Given the description of an element on the screen output the (x, y) to click on. 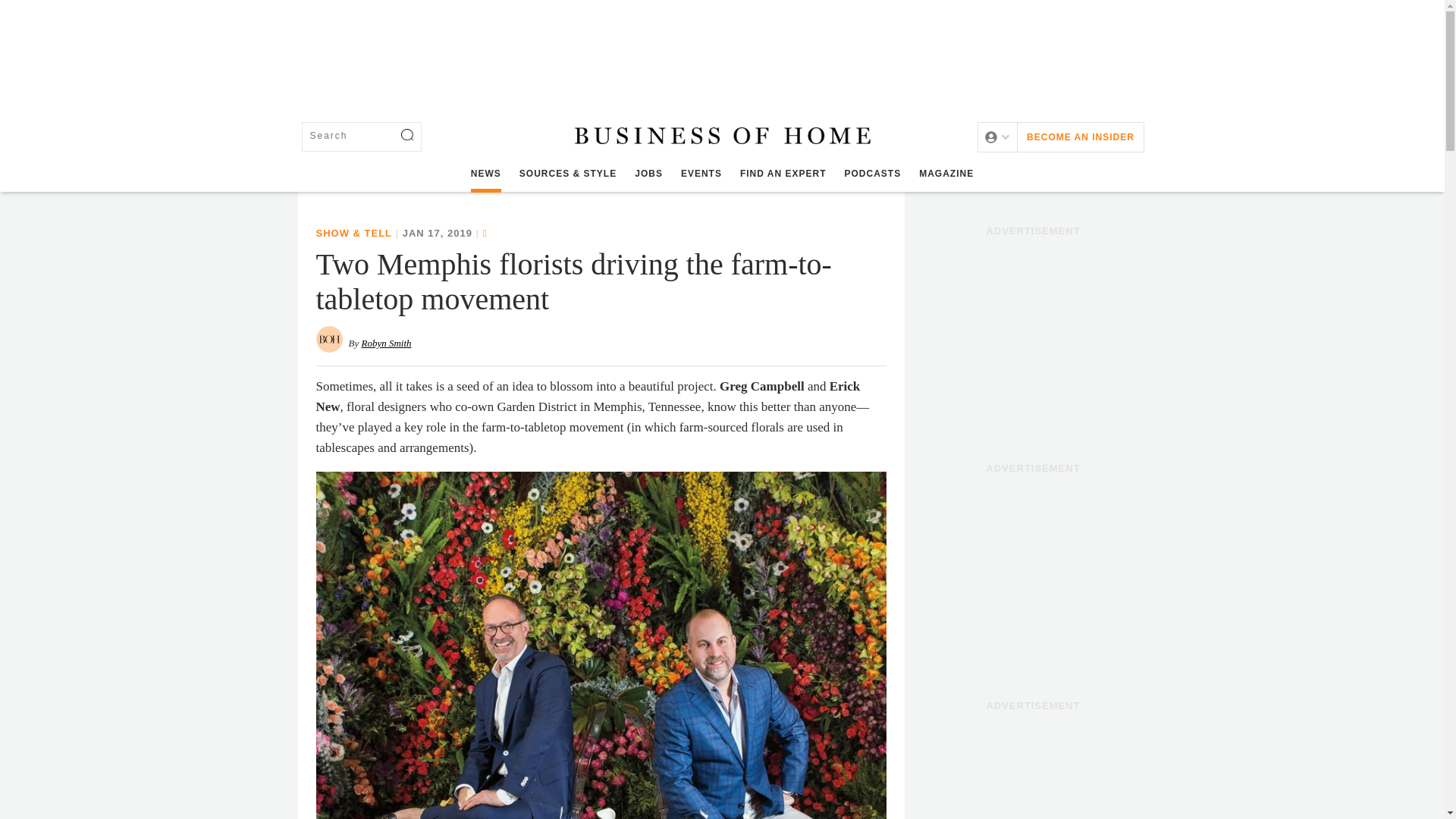
3rd party ad content (1032, 768)
3rd party ad content (721, 50)
3rd party ad content (1032, 338)
NEWS (485, 173)
3rd party ad content (1032, 575)
